Given the description of an element on the screen output the (x, y) to click on. 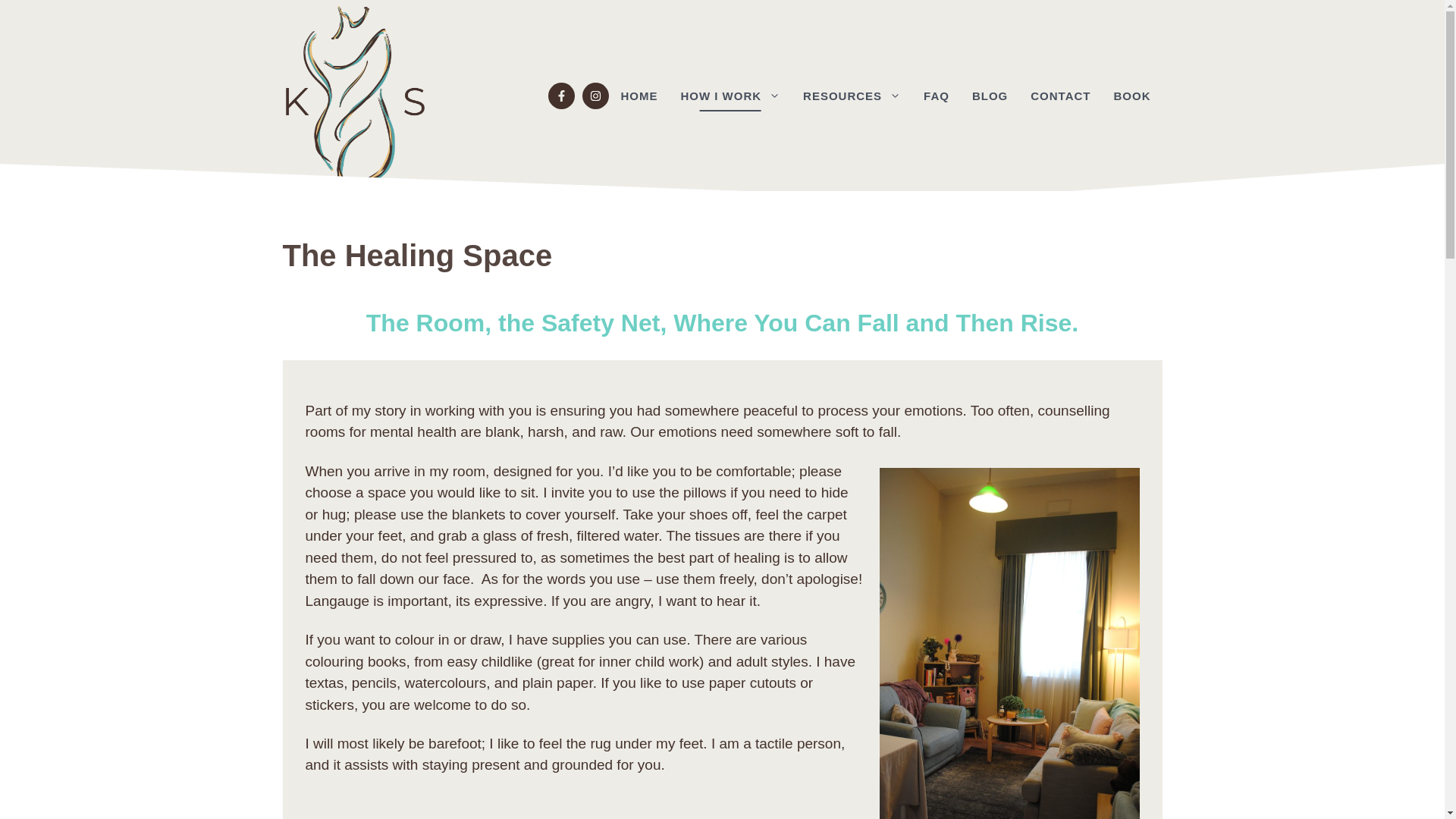
RESOURCES (852, 95)
FAQ (936, 95)
CONTACT (1060, 95)
HOW I WORK (730, 95)
BOOK (1131, 95)
BLOG (989, 95)
HOME (638, 95)
